Given the description of an element on the screen output the (x, y) to click on. 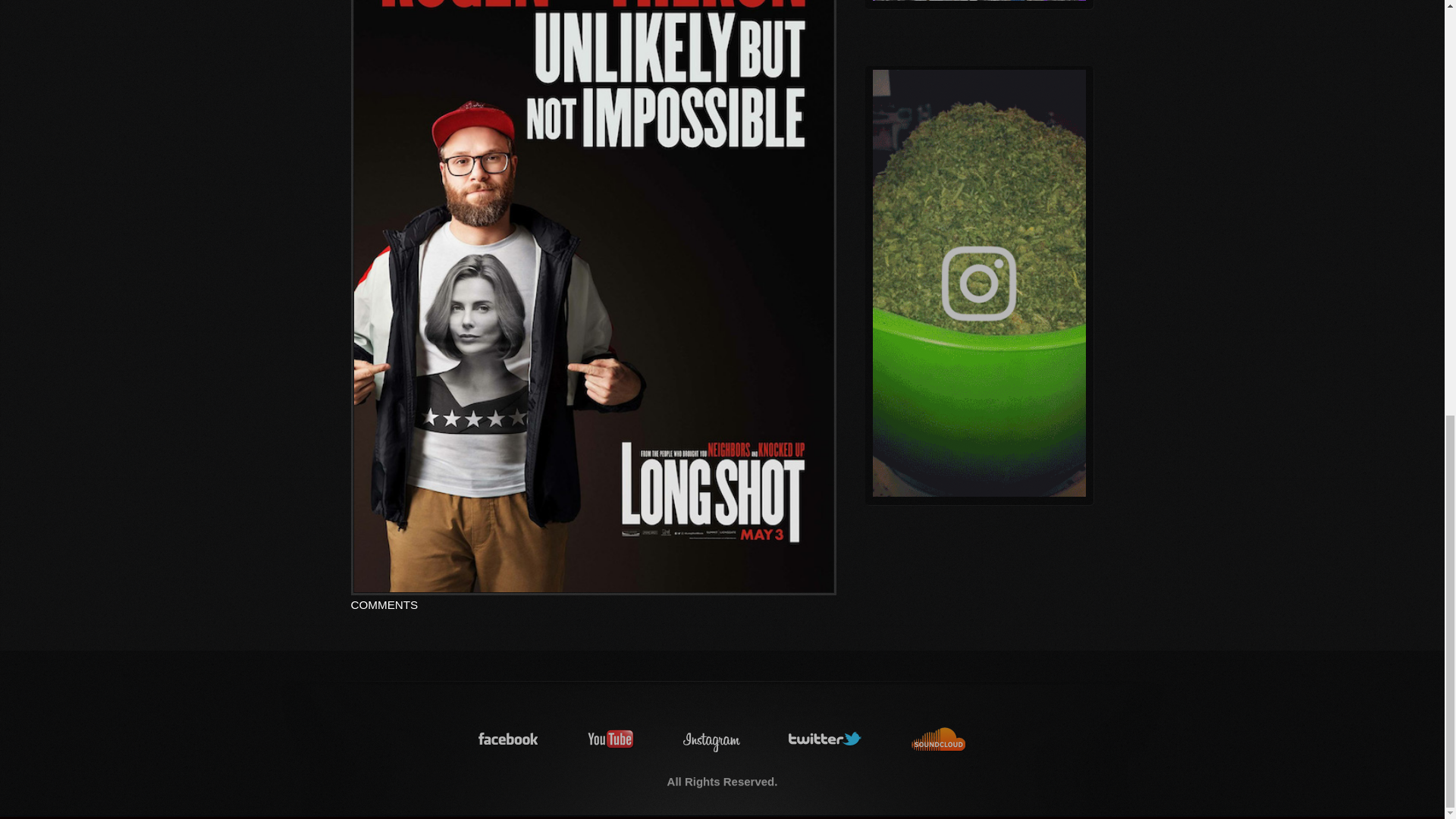
youtube (611, 739)
twitter (826, 739)
facebook (508, 739)
instagram (710, 739)
soundcloud (938, 739)
